Given the description of an element on the screen output the (x, y) to click on. 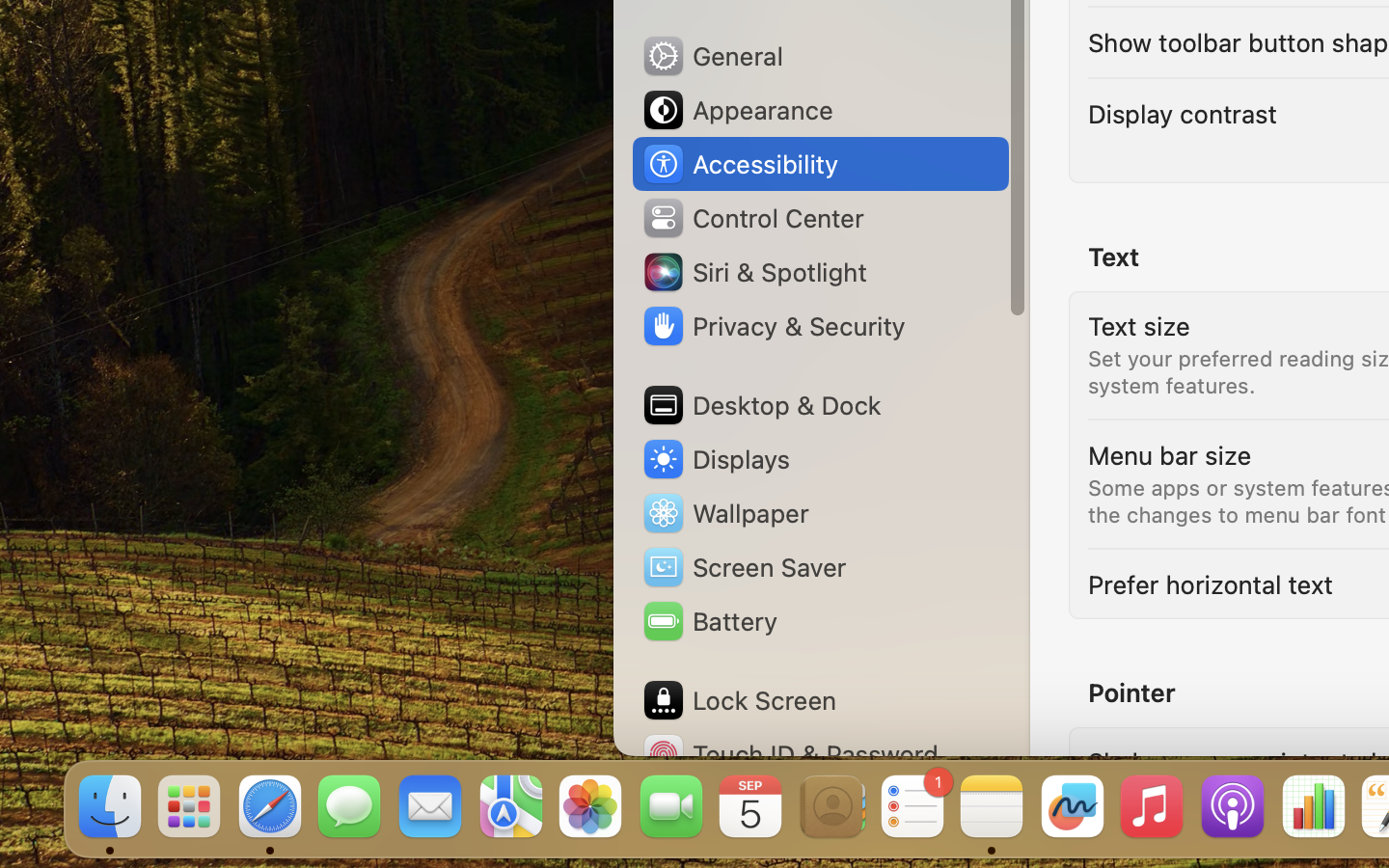
Appearance Element type: AXStaticText (736, 109)
Lock Screen Element type: AXStaticText (738, 700)
General Element type: AXStaticText (711, 55)
Displays Element type: AXStaticText (715, 458)
Battery Element type: AXStaticText (708, 620)
